Given the description of an element on the screen output the (x, y) to click on. 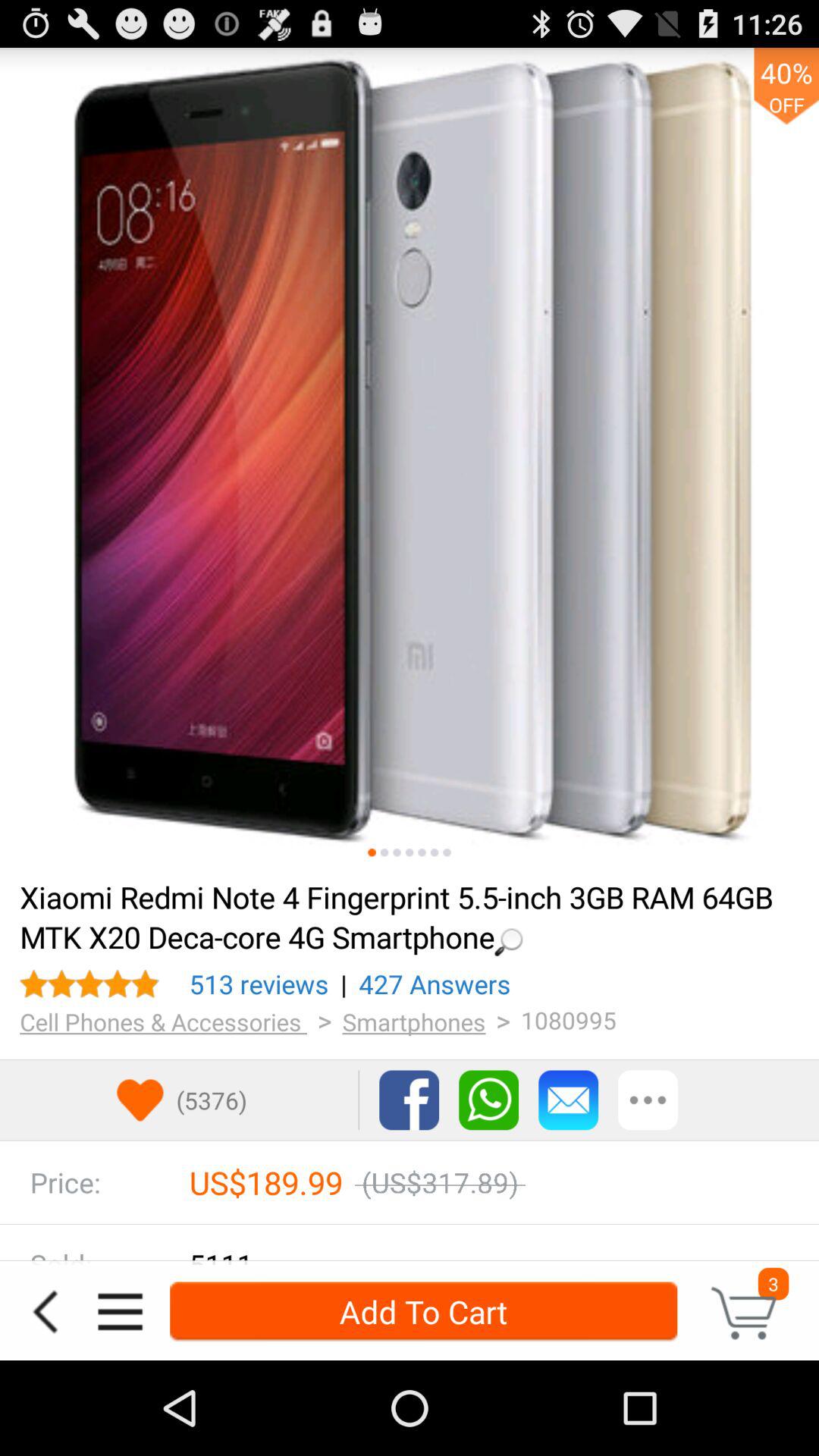
go to second picture (384, 852)
